Given the description of an element on the screen output the (x, y) to click on. 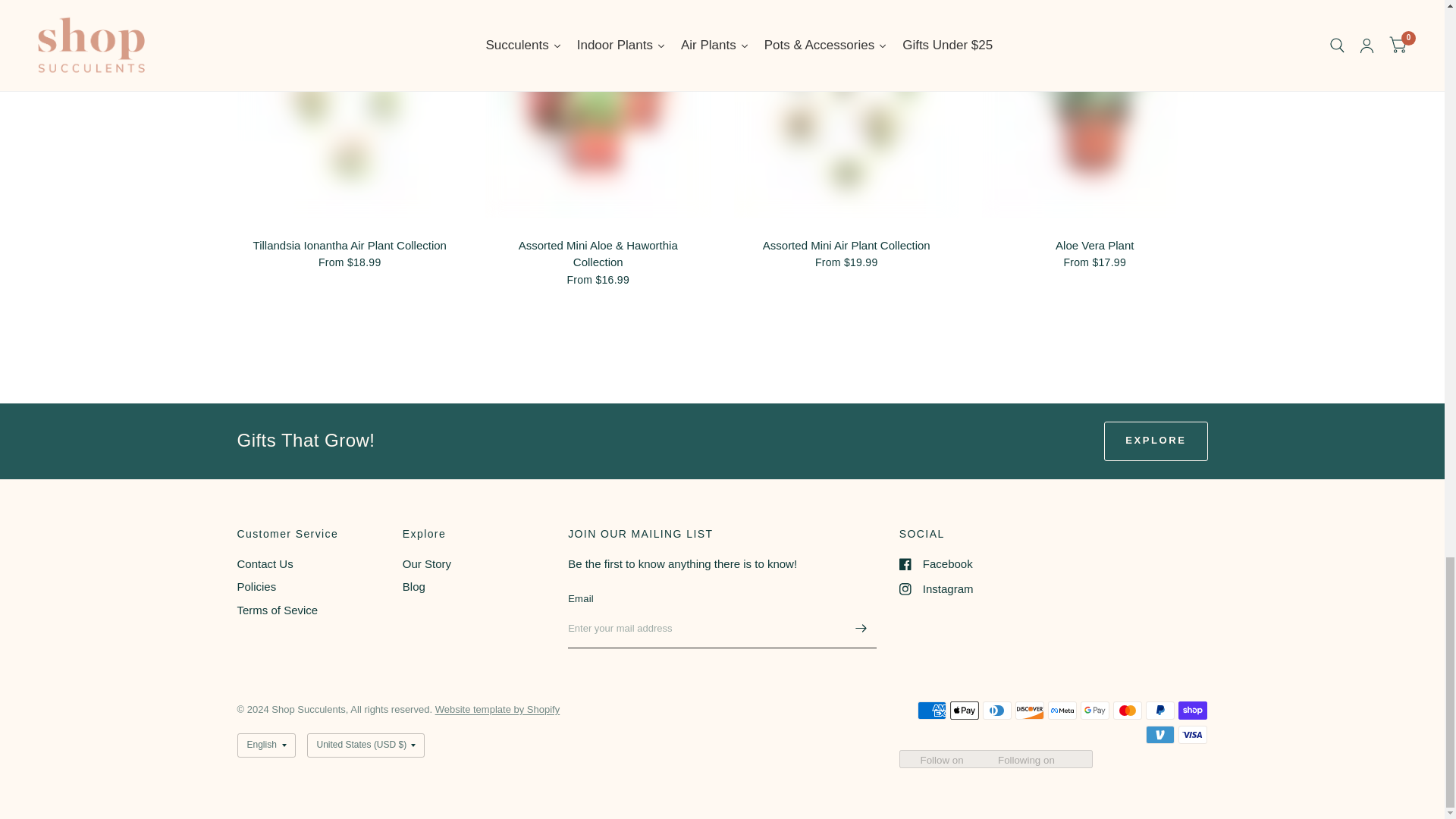
Tillandsia Ionantha Air Plant Collection (349, 109)
Tillandsia Ionantha Air Plant Collection (349, 245)
Assorted Mini Air Plant Collection (845, 245)
Tillandsia Ionantha Air Plant Collection (349, 245)
